Given the description of an element on the screen output the (x, y) to click on. 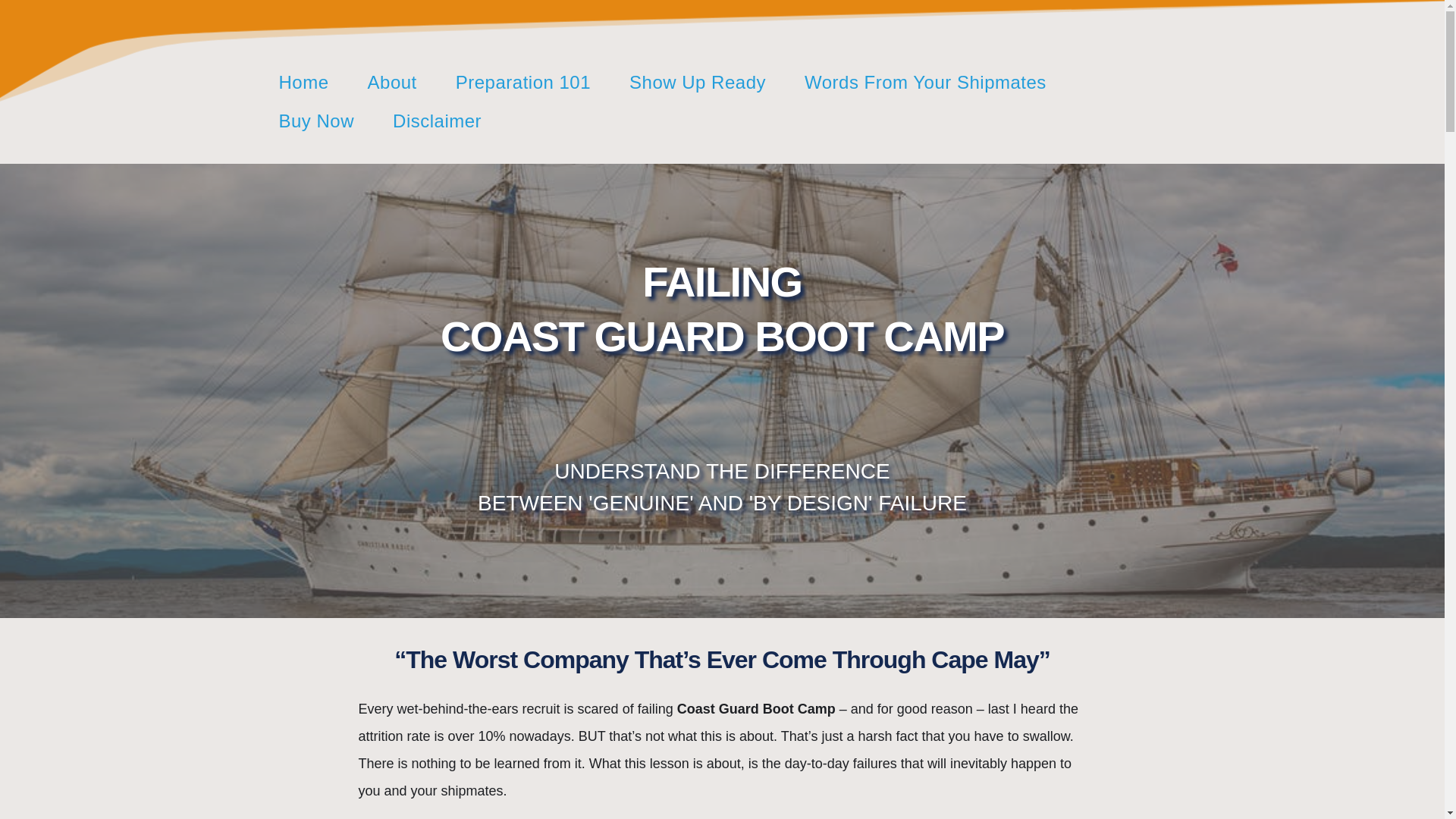
Preparation 101 (523, 82)
Coast Guard Boot Camp Survival Guide (317, 120)
Words From Your Shipmates (925, 82)
Disclaimer (437, 120)
Buy Now (317, 120)
Show Up Ready (696, 82)
About (392, 82)
Home (304, 82)
